Given the description of an element on the screen output the (x, y) to click on. 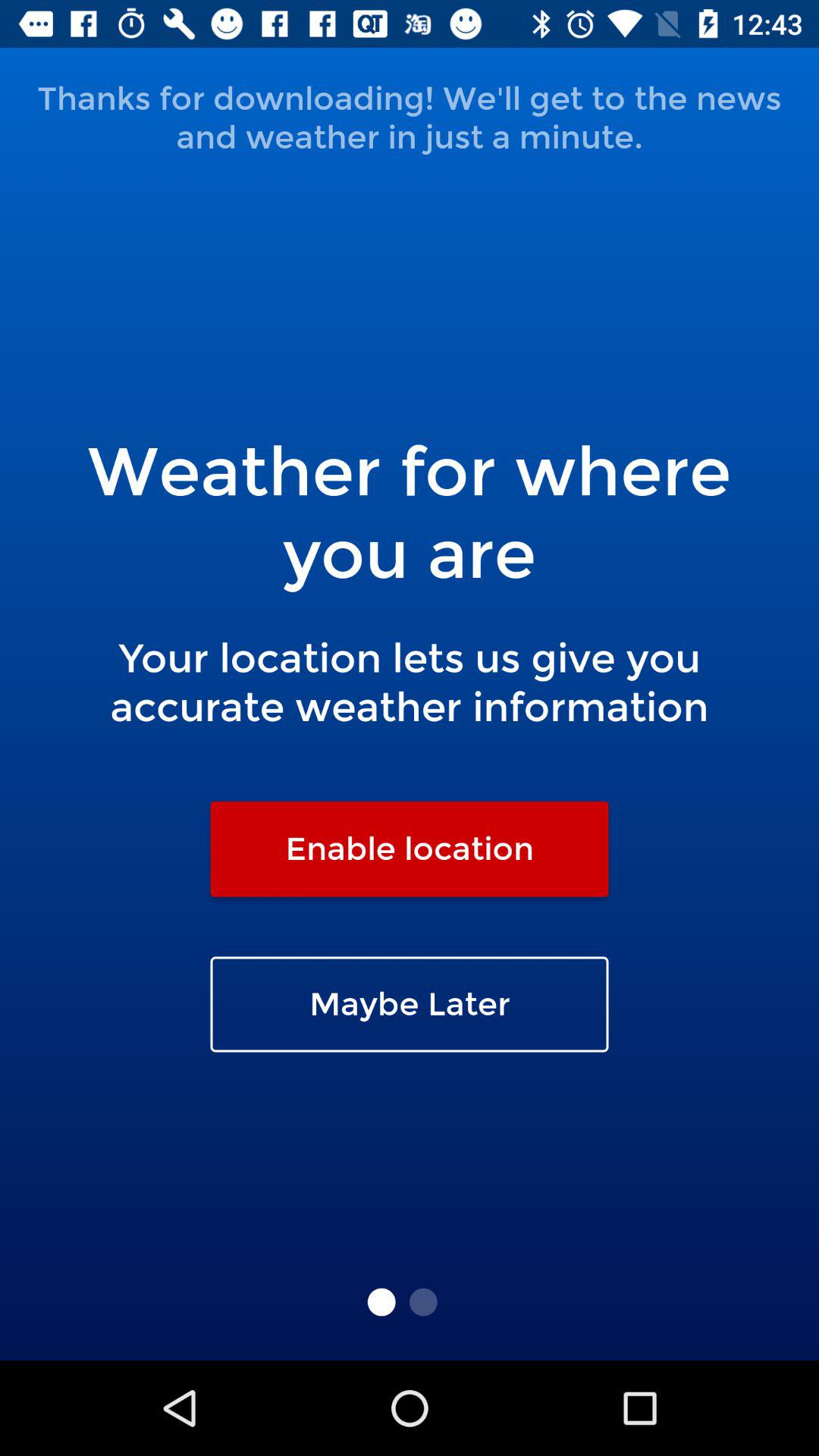
flip until maybe later (409, 1004)
